Given the description of an element on the screen output the (x, y) to click on. 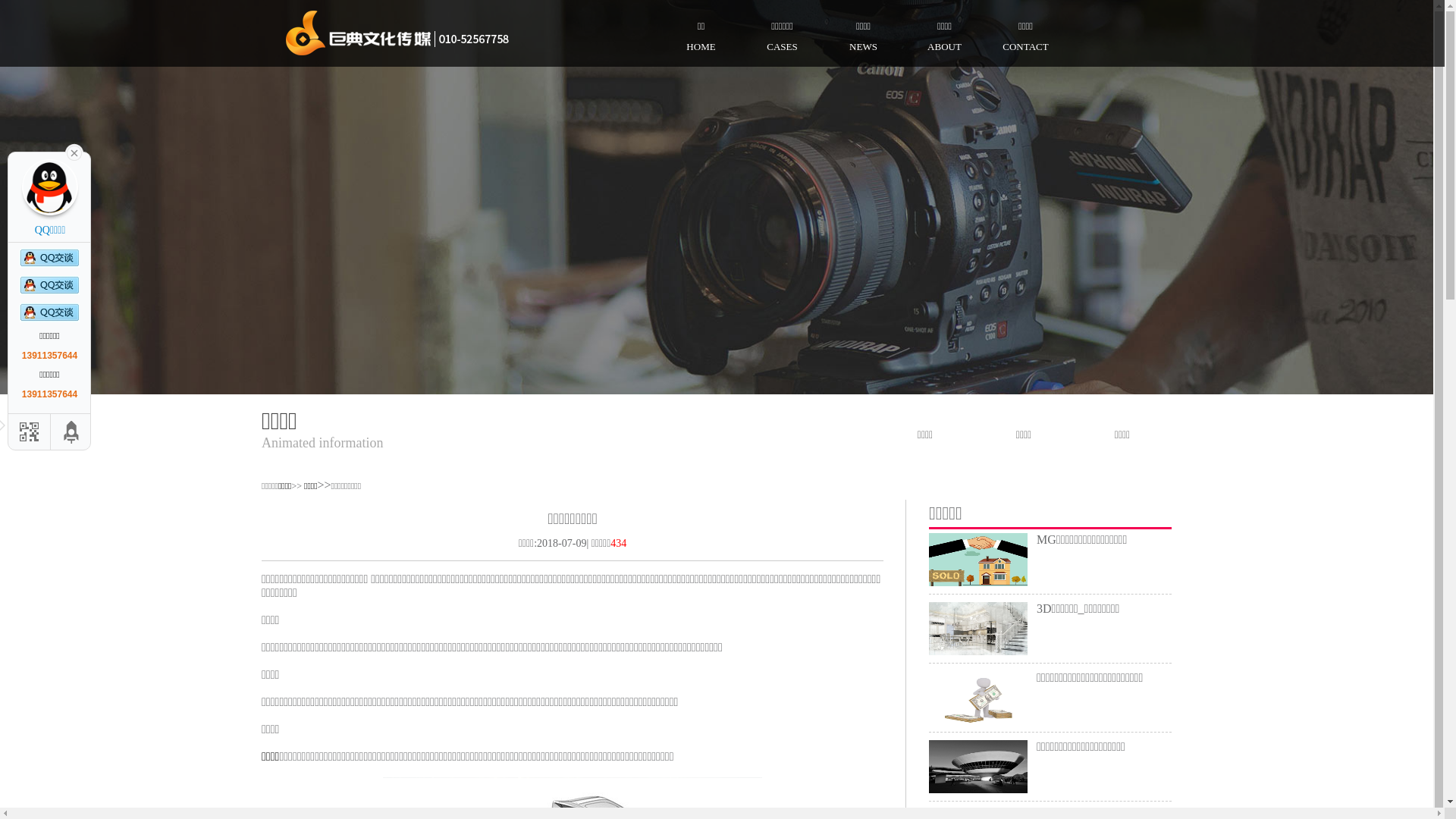
  Element type: text (74, 151)
